Given the description of an element on the screen output the (x, y) to click on. 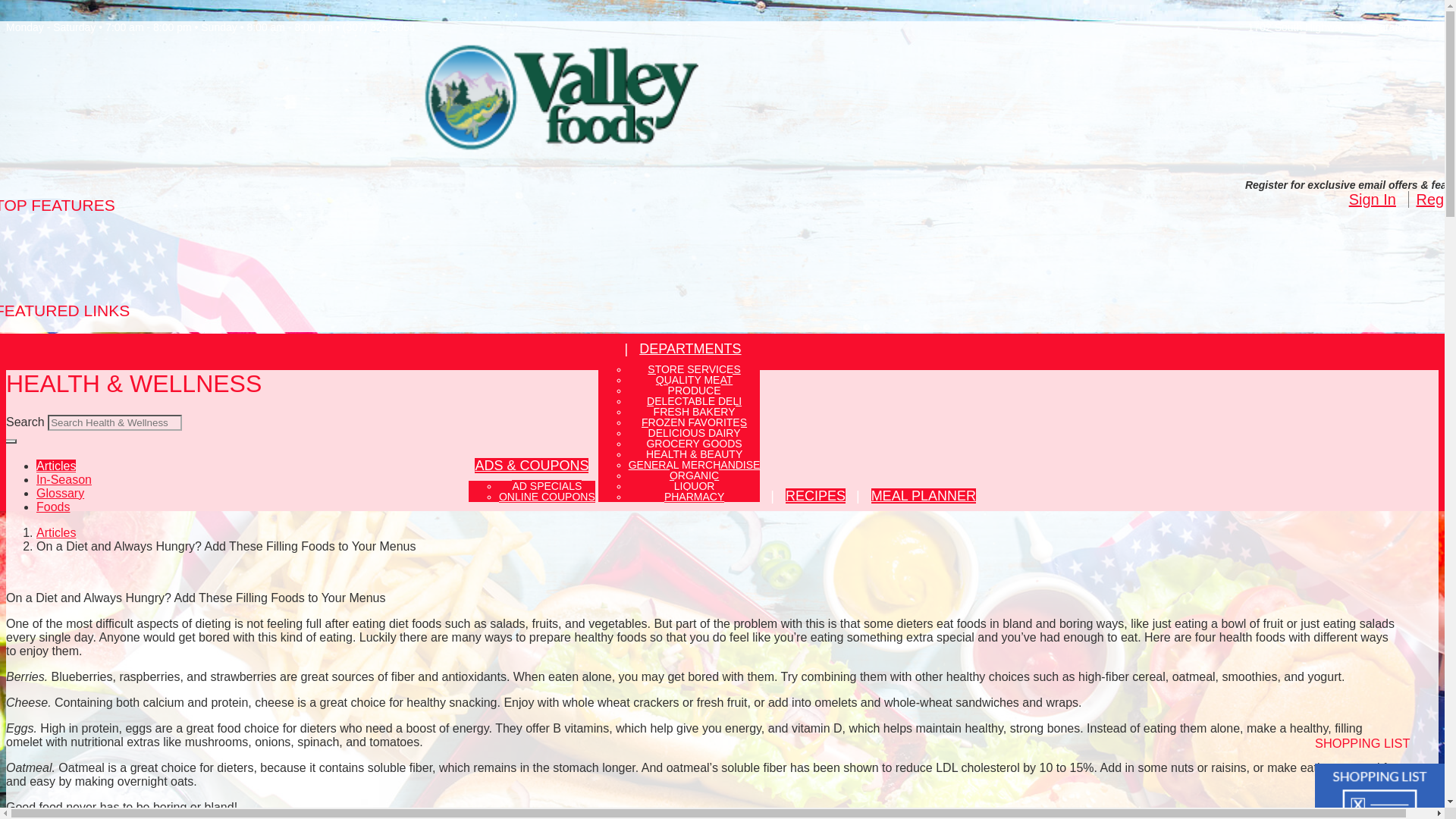
Click to sign in to your account (1372, 199)
AD SPECIALS (546, 485)
DELECTABLE DELI (693, 400)
DELICIOUS DAIRY (694, 432)
FRESH BAKERY (694, 411)
Goto Shopping List (1379, 803)
Sign In (1372, 199)
FROZEN FAVORITES (694, 422)
ONLINE COUPONS (547, 496)
GROCERY GOODS (693, 443)
QUALITY MEAT (694, 379)
DEPARTMENTS (690, 348)
STORE SERVICES (693, 369)
PRODUCE (694, 390)
